Given the description of an element on the screen output the (x, y) to click on. 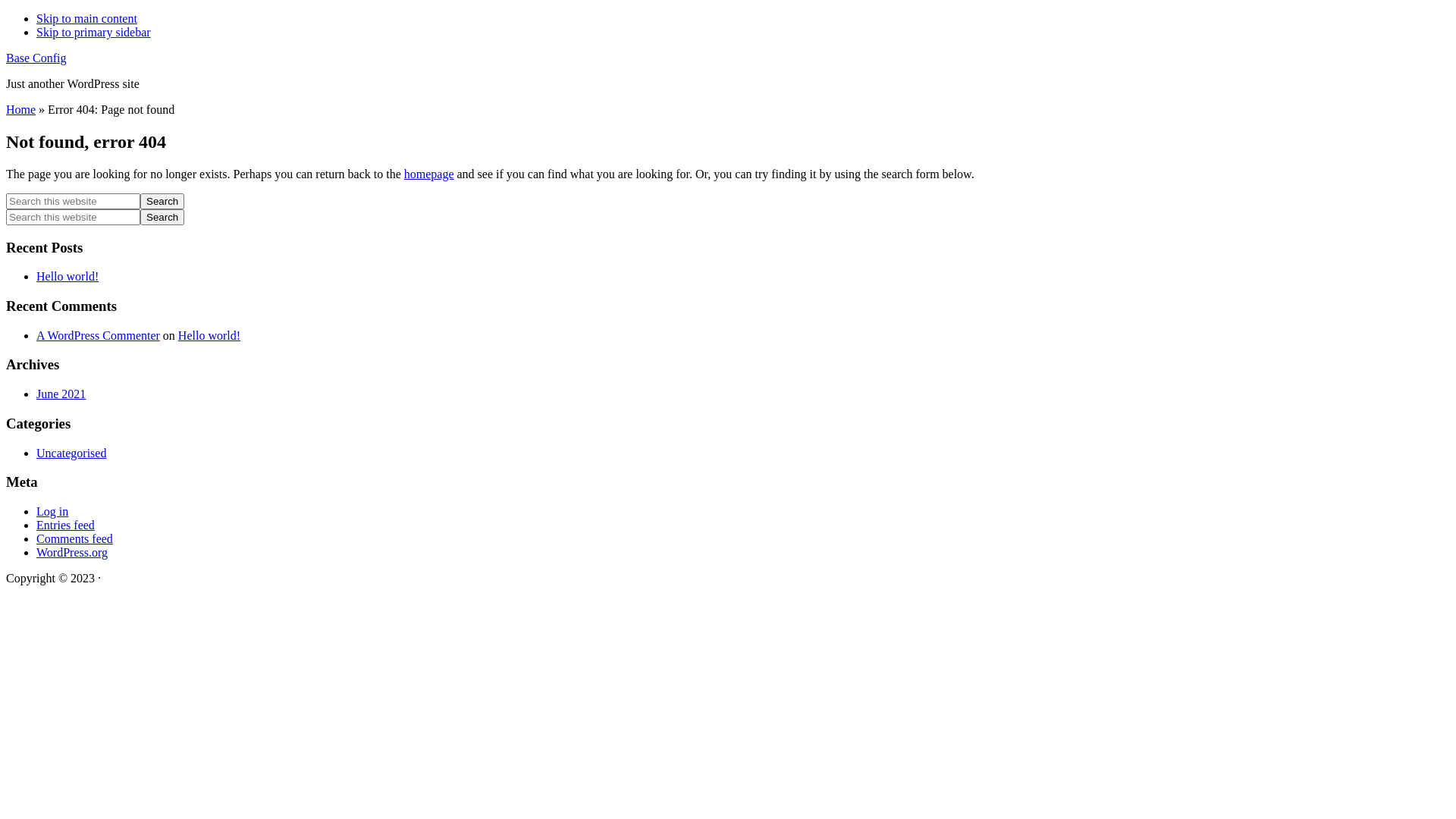
Search Element type: text (162, 217)
Log in Element type: text (52, 511)
homepage Element type: text (429, 173)
Comments feed Element type: text (74, 538)
Skip to main content Element type: text (86, 18)
Uncategorised Element type: text (71, 452)
Hello world! Element type: text (67, 275)
WordPress.org Element type: text (71, 552)
Home Element type: text (20, 109)
Search Element type: text (162, 201)
Entries feed Element type: text (65, 524)
Hello world! Element type: text (209, 335)
Skip to primary sidebar Element type: text (93, 31)
June 2021 Element type: text (60, 393)
A WordPress Commenter Element type: text (98, 335)
Base Config Element type: text (36, 57)
